Given the description of an element on the screen output the (x, y) to click on. 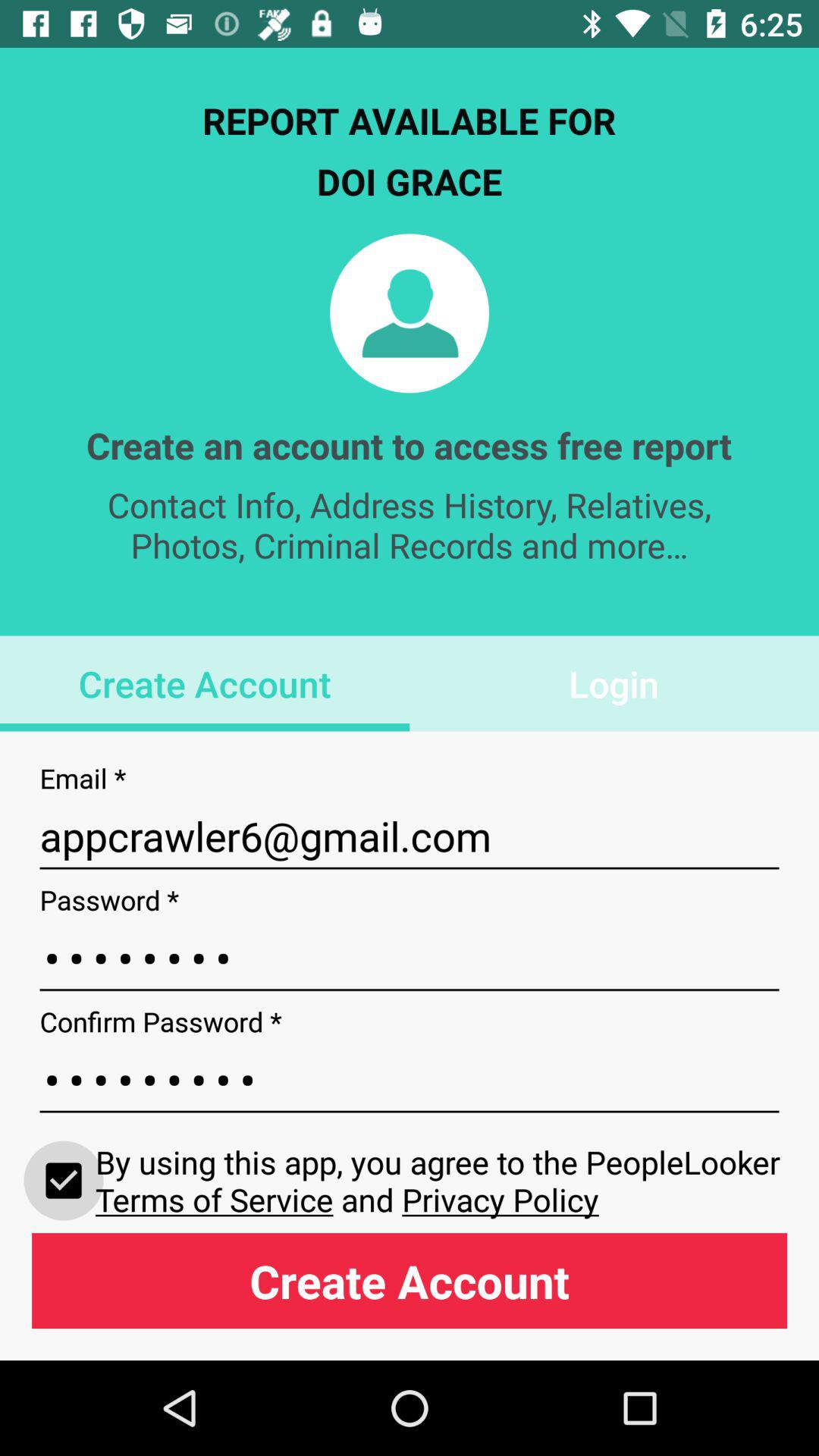
tap the icon at the bottom left corner (63, 1180)
